Given the description of an element on the screen output the (x, y) to click on. 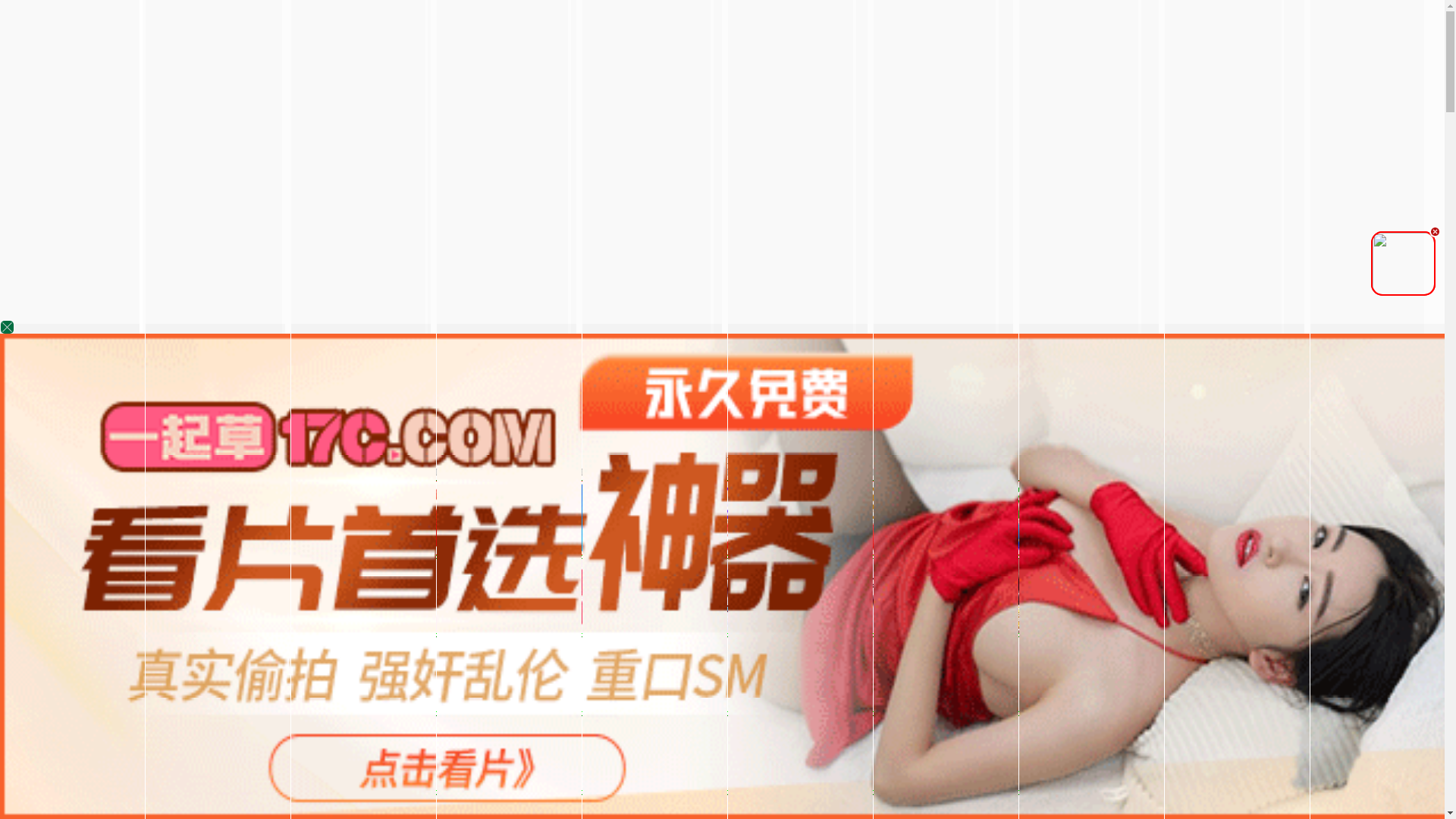
| Element type: text (945, 471)
| Element type: text (1139, 471)
| Element type: text (904, 471)
| Element type: text (819, 471)
6686 Element type: hover (721, 552)
| Element type: text (1092, 471)
| Element type: text (1288, 471)
| Element type: text (1231, 471)
| Element type: text (1181, 471)
6686 Element type: hover (721, 748)
| Element type: text (983, 471)
6686 Element type: hover (721, 669)
| Element type: text (858, 471)
| Element type: text (1324, 471)
| Element type: text (1046, 471)
| Element type: text (1414, 471)
| Element type: text (794, 471)
| Element type: text (1359, 471)
